Given the description of an element on the screen output the (x, y) to click on. 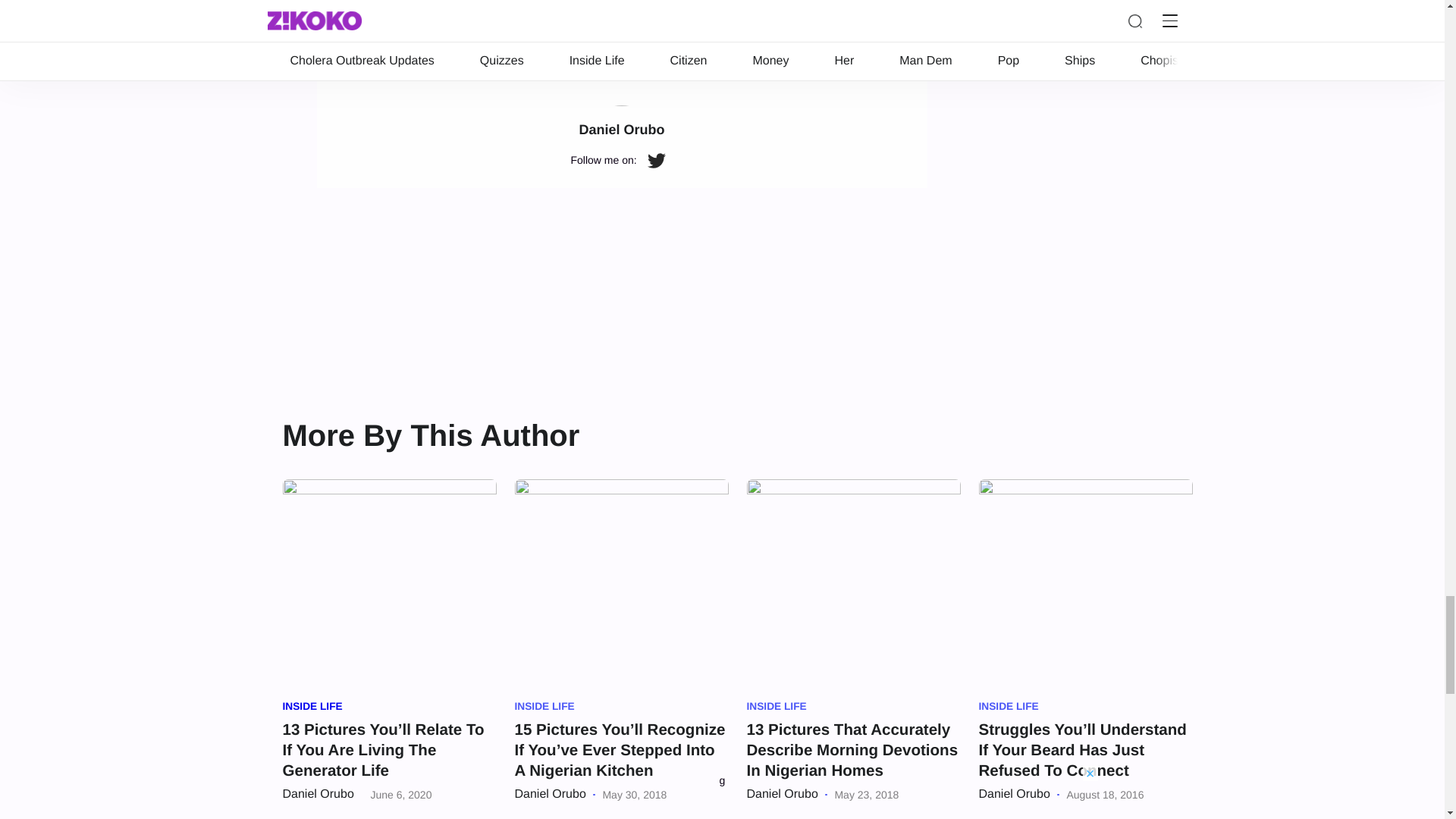
Posts by Daniel Orubo (317, 793)
Posts by Daniel Orubo (549, 793)
Posts by Daniel Orubo (780, 793)
Posts by Daniel Orubo (1013, 793)
